Given the description of an element on the screen output the (x, y) to click on. 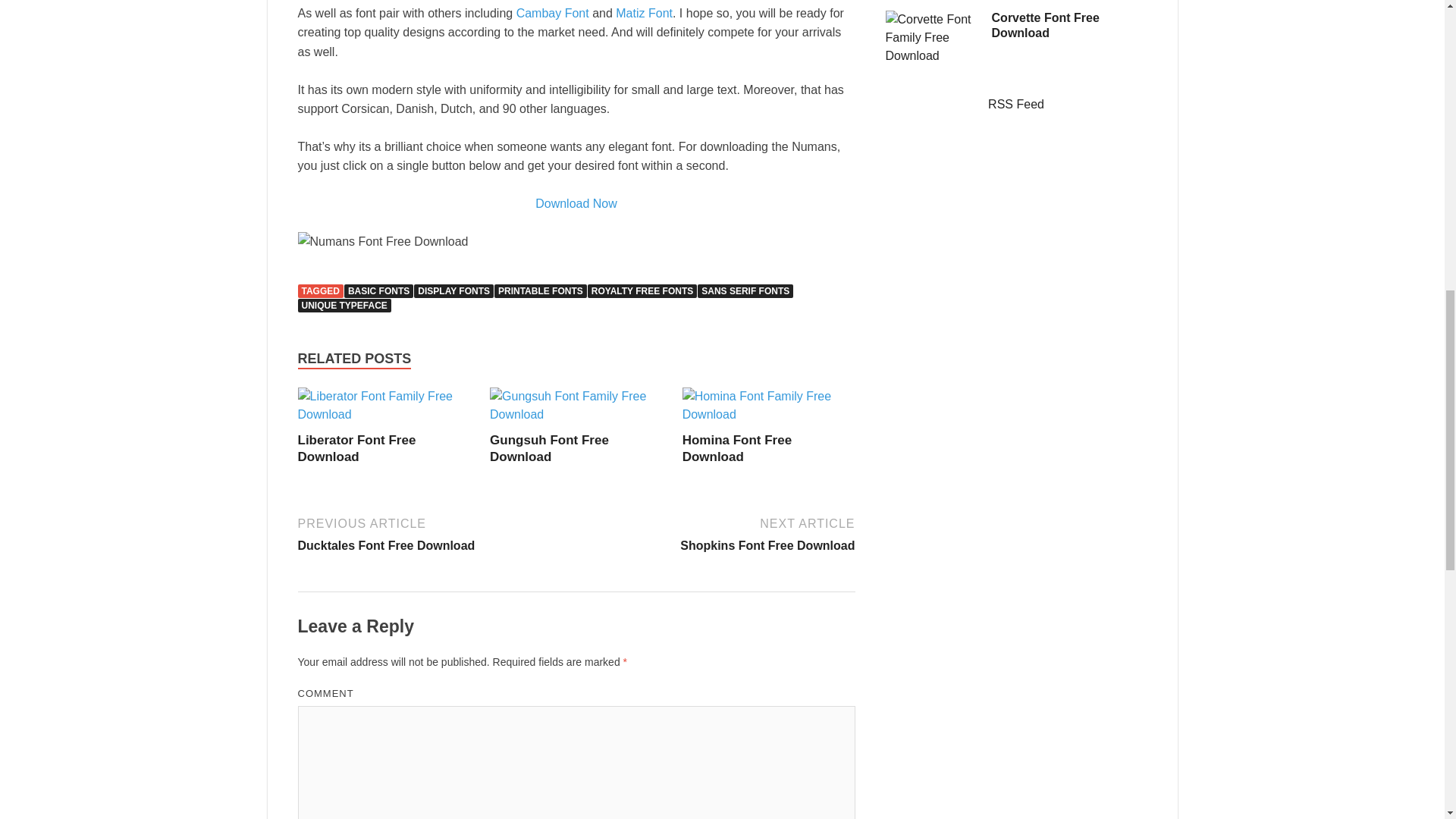
Gungsuh Font Free Download (575, 413)
UNIQUE TYPEFACE (343, 305)
ROYALTY FREE FONTS (642, 291)
Liberator Font Free Download (717, 533)
Cambay Font (383, 413)
DISPLAY FONTS (552, 12)
PRINTABLE FONTS (453, 291)
Gungsuh Font Free Download (540, 291)
Liberator Font Free Download (548, 448)
BASIC FONTS (355, 448)
Homina Font Free Download (378, 291)
Matiz Font (769, 413)
Homina Font Free Download (643, 12)
